Given the description of an element on the screen output the (x, y) to click on. 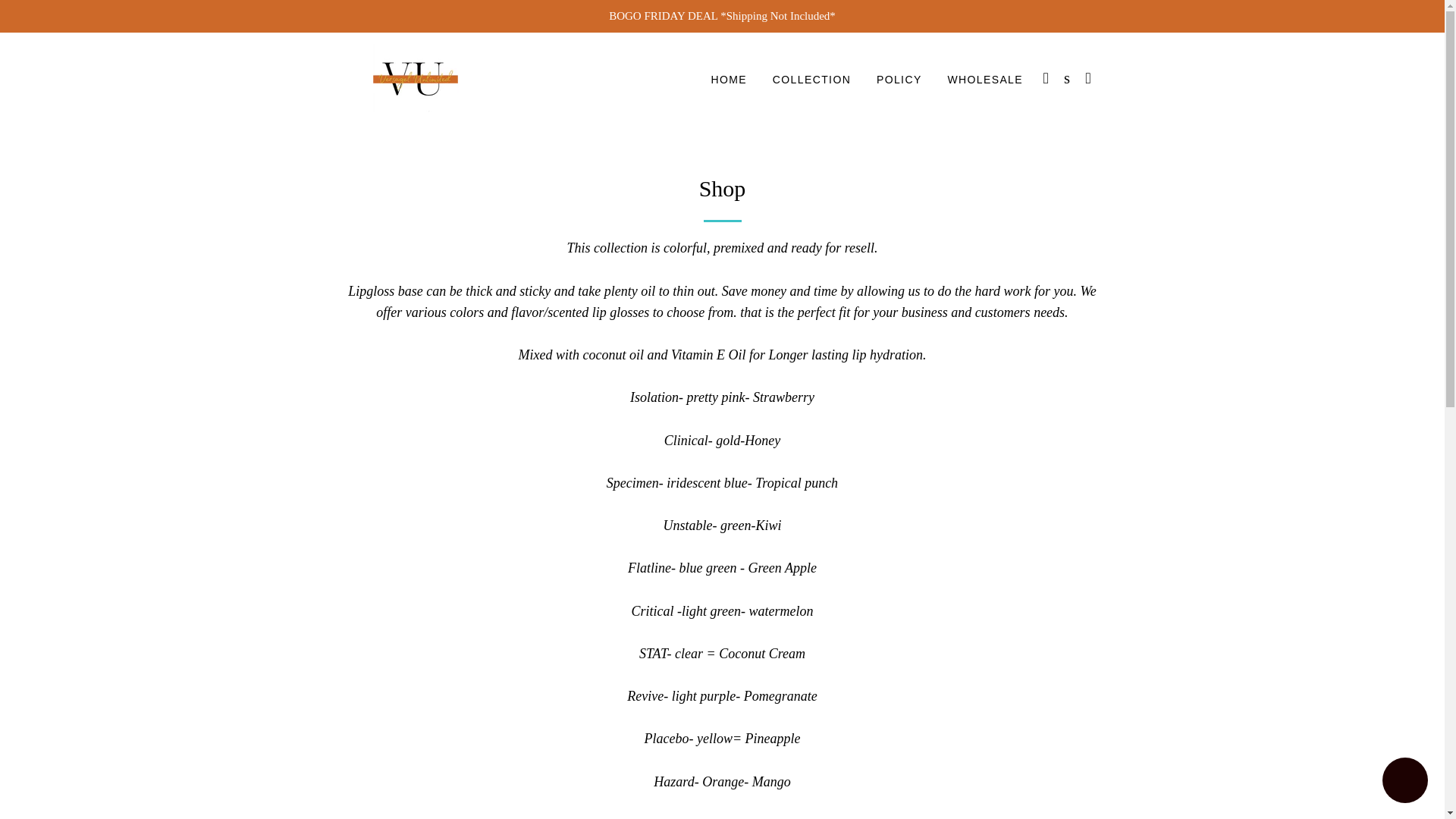
COLLECTION (811, 79)
HOME (728, 79)
POLICY (898, 79)
WHOLESALE (984, 79)
Shopify online store chat (1404, 781)
